Given the description of an element on the screen output the (x, y) to click on. 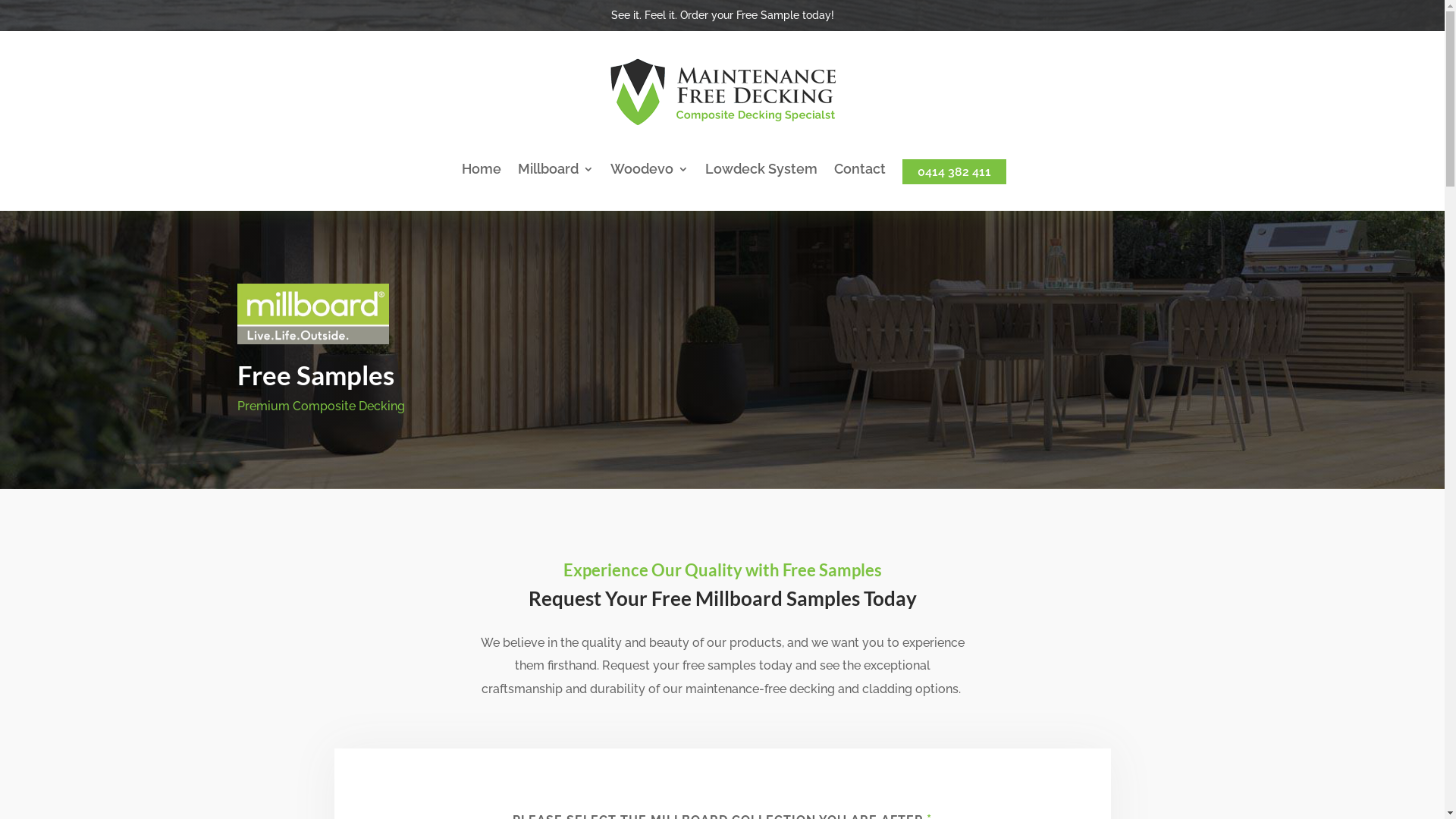
0414 382 411 Element type: text (954, 171)
Home Element type: text (480, 171)
MFD-Logo-Horizontal-Black-Small Element type: hover (721, 91)
Lowdeck System Element type: text (761, 171)
Contact Element type: text (859, 171)
Millboard-Logo Element type: hover (312, 313)
Millboard Element type: text (555, 171)
Woodevo Element type: text (648, 171)
